Given the description of an element on the screen output the (x, y) to click on. 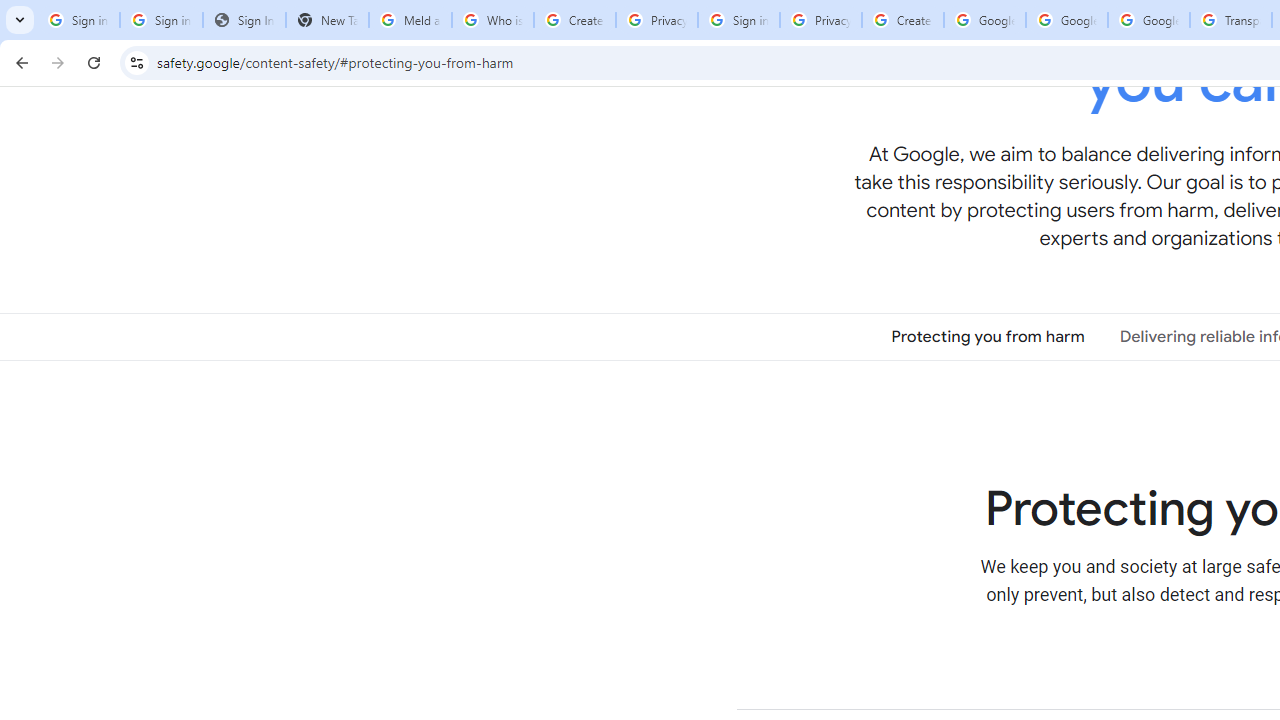
Sign in - Google Accounts (78, 20)
Sign in - Google Accounts (161, 20)
New Tab (326, 20)
